Given the description of an element on the screen output the (x, y) to click on. 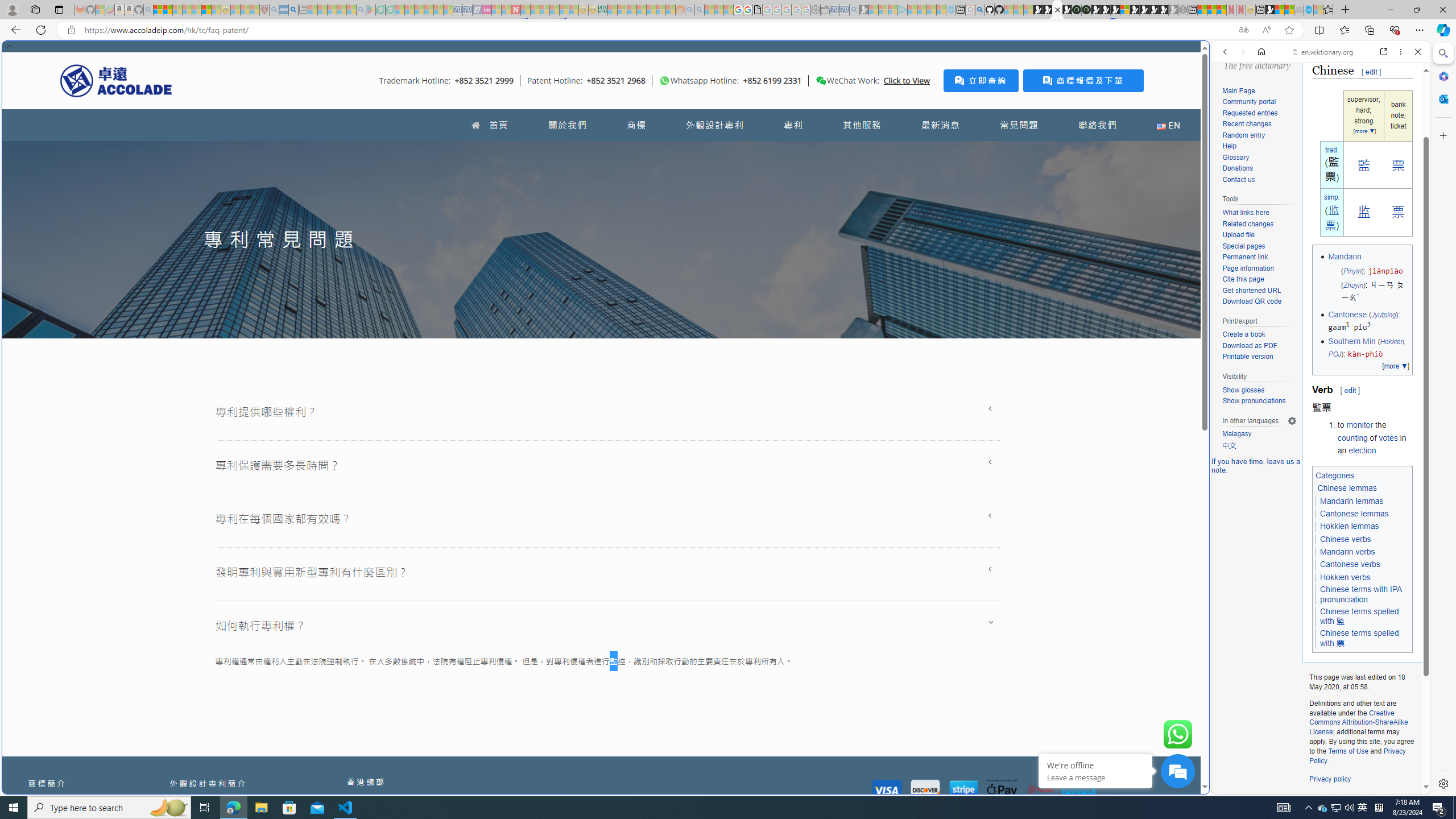
Download as PDF (1248, 345)
Glossary (1259, 157)
EN (1168, 124)
Close split screen (1208, 57)
Page information (1259, 268)
Contact us (1259, 179)
If you have time, leave us a note. (1255, 465)
Show pronunciations (1253, 401)
Cantonese verbs (1350, 564)
